Given the description of an element on the screen output the (x, y) to click on. 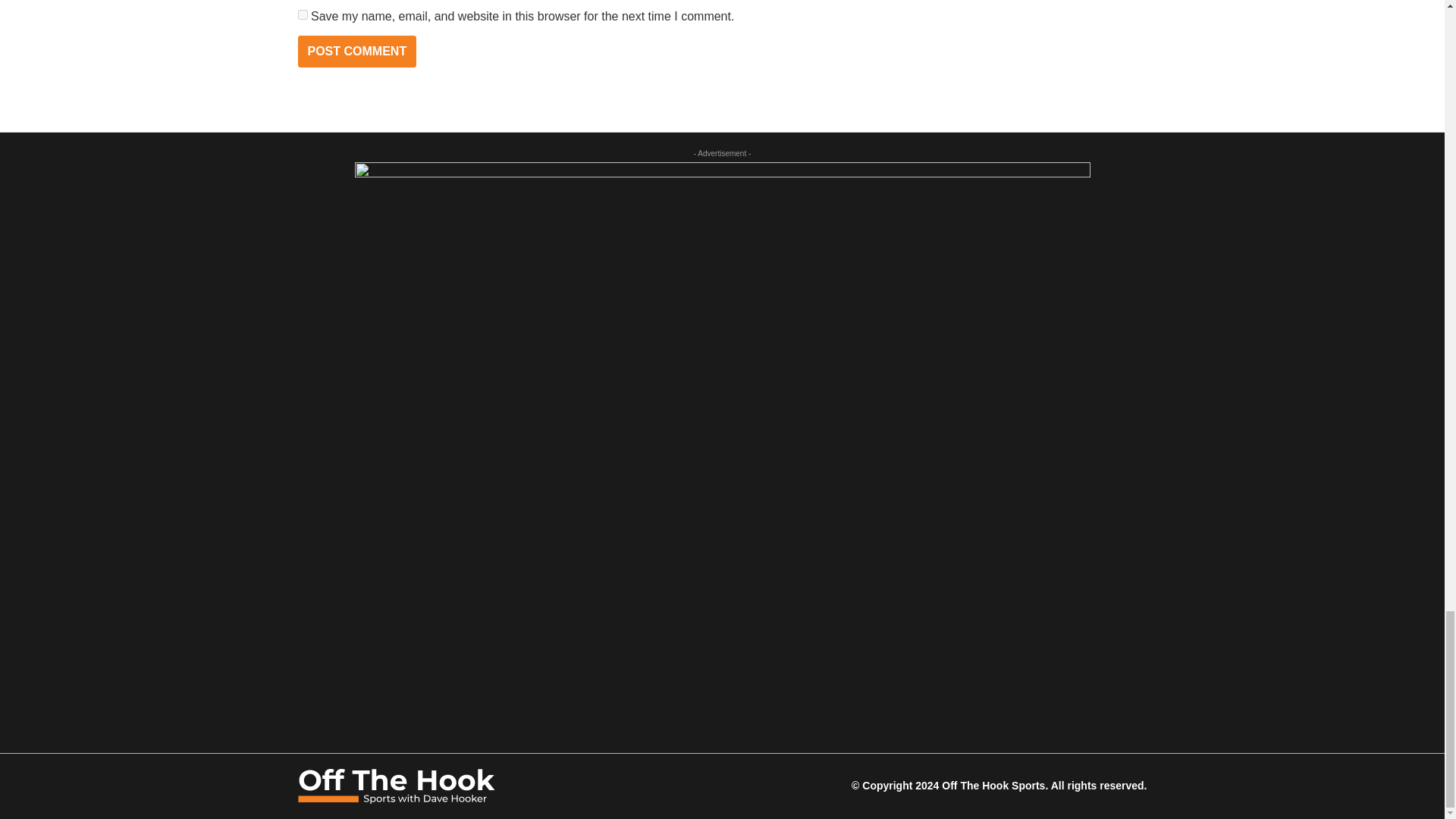
Post Comment (356, 51)
yes (302, 14)
